Given the description of an element on the screen output the (x, y) to click on. 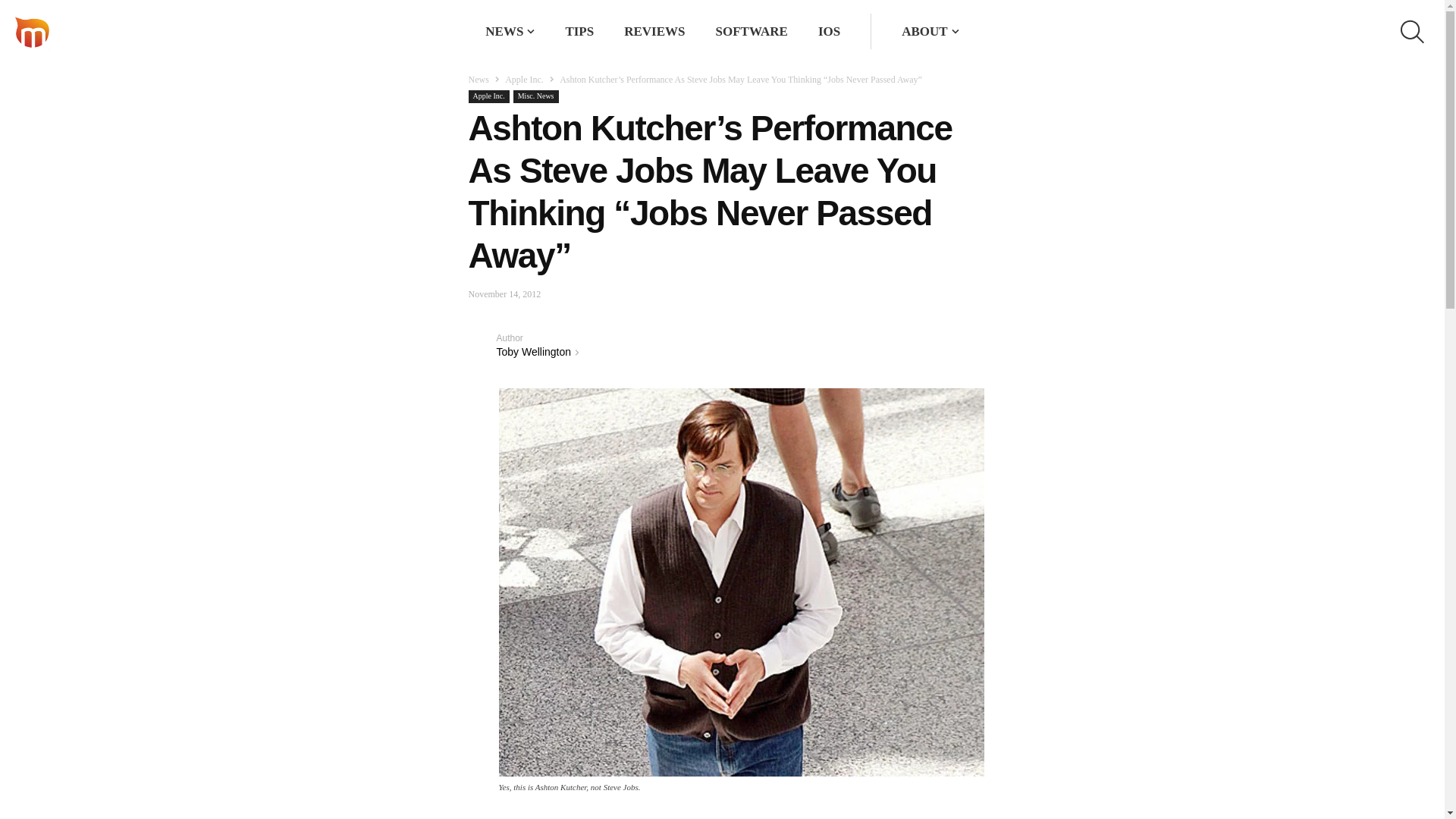
Misc. News (536, 96)
REVIEWS (654, 31)
Apple Inc. (488, 96)
View all posts in Apple Inc. (524, 79)
Search (918, 31)
NEWS (503, 31)
Apple Inc. (524, 79)
SOFTWARE (751, 31)
News (478, 79)
Toby Wellington (482, 343)
